Given the description of an element on the screen output the (x, y) to click on. 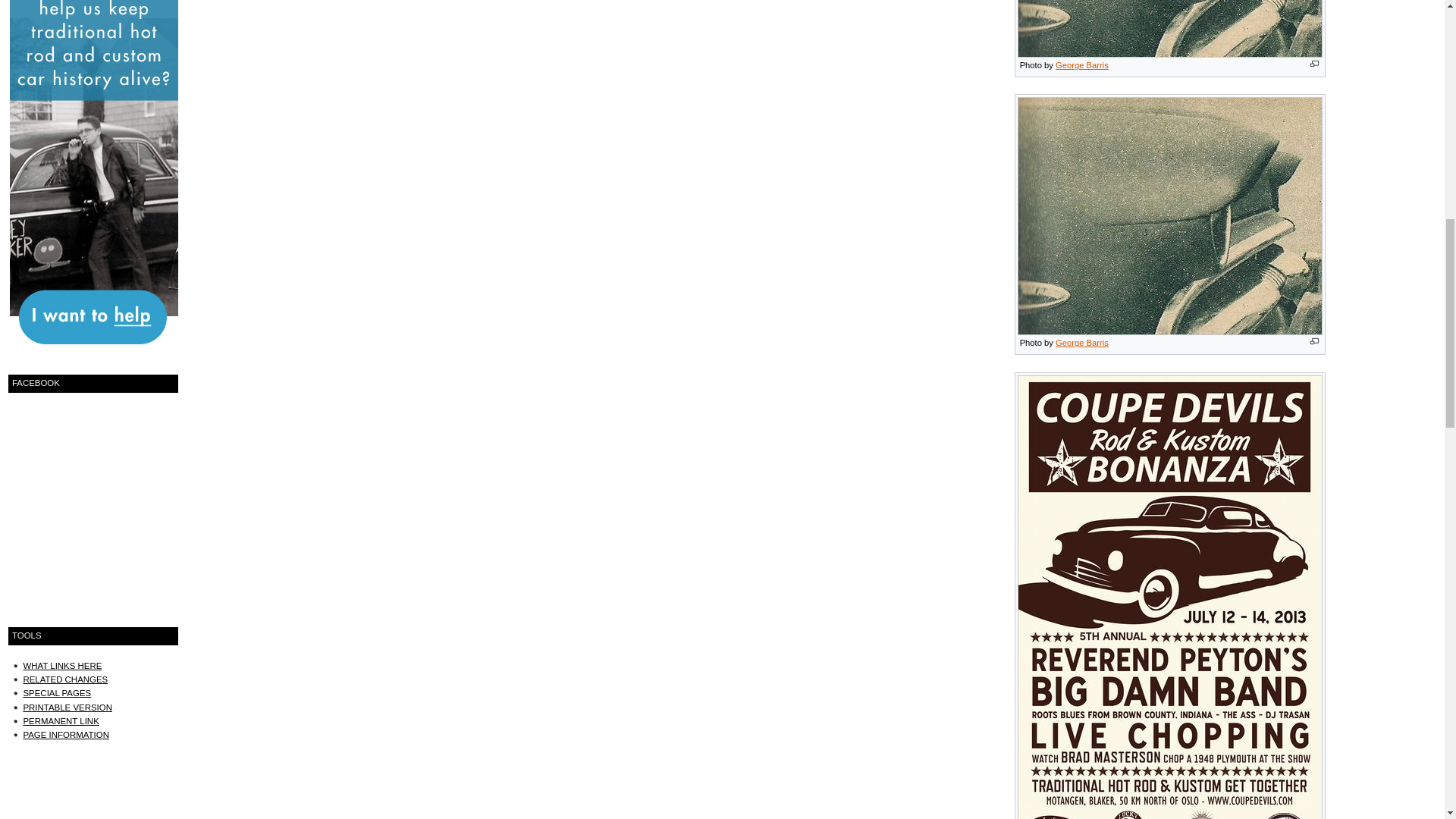
George Barris (1081, 342)
George Barris (1081, 342)
George Barris (1081, 64)
George Barris (1081, 64)
Enlarge (1314, 341)
Enlarge (1314, 63)
